Given the description of an element on the screen output the (x, y) to click on. 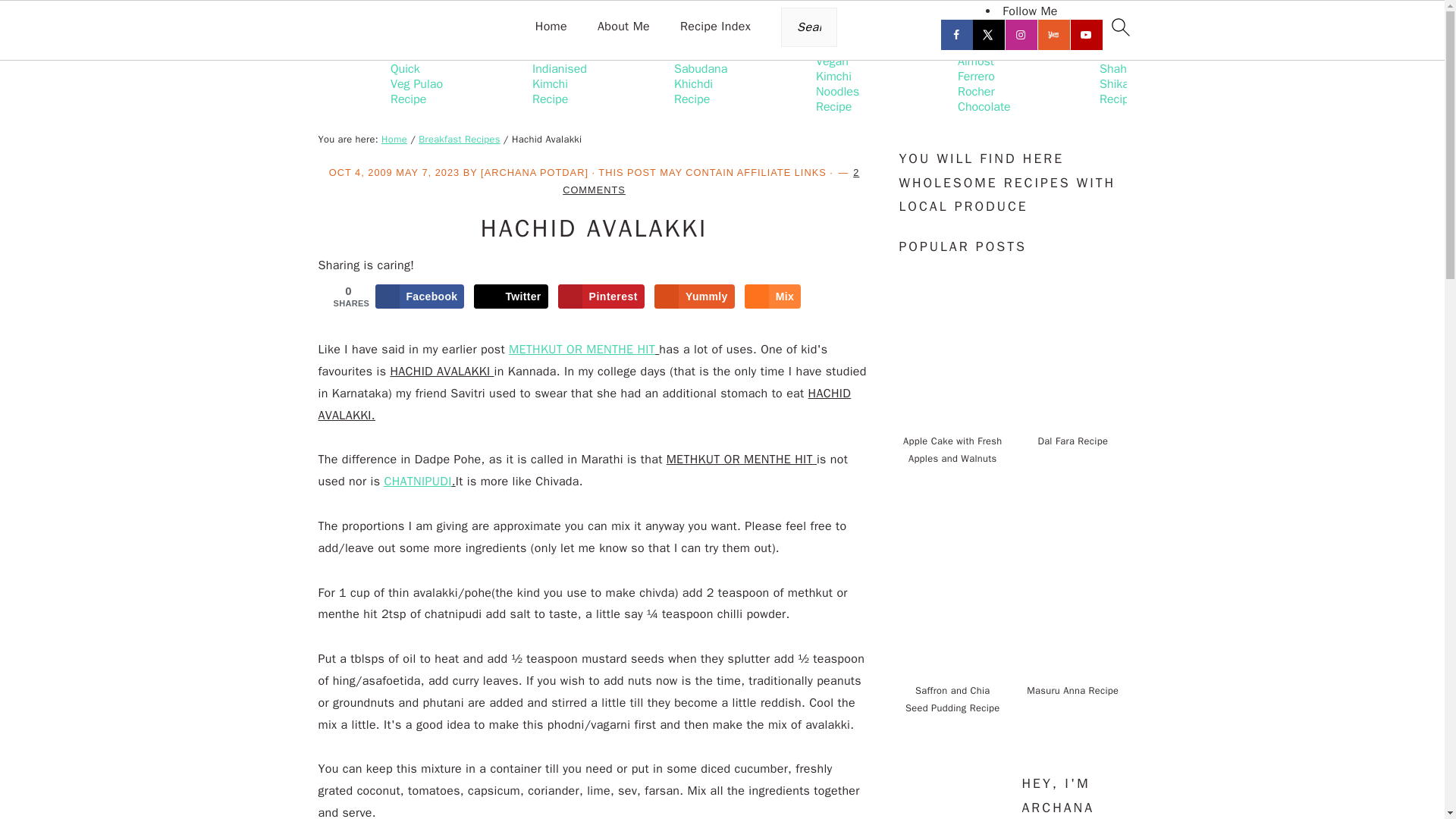
Recipe Index (715, 26)
Follow on YouTube (1086, 34)
Sabudana Khichdi Recipe (670, 83)
Vegan Kimchi Noodles Recipe (810, 83)
Search (275, 19)
Follow on Instagram (1021, 34)
search icon (1119, 26)
Indianised Kimchi Recipe (527, 83)
Follow on Facebook (957, 34)
